Given the description of an element on the screen output the (x, y) to click on. 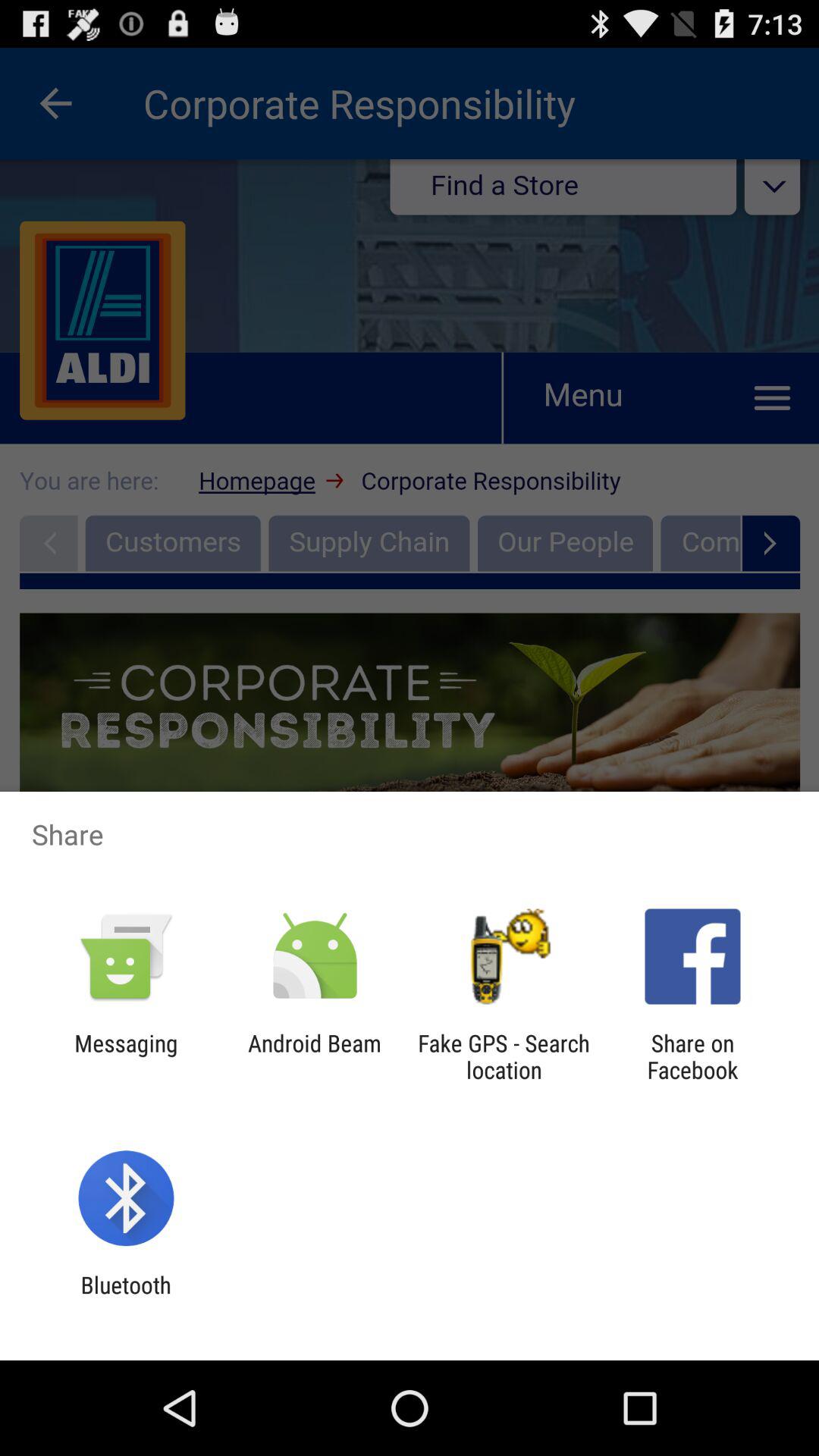
select app to the right of android beam icon (503, 1056)
